Given the description of an element on the screen output the (x, y) to click on. 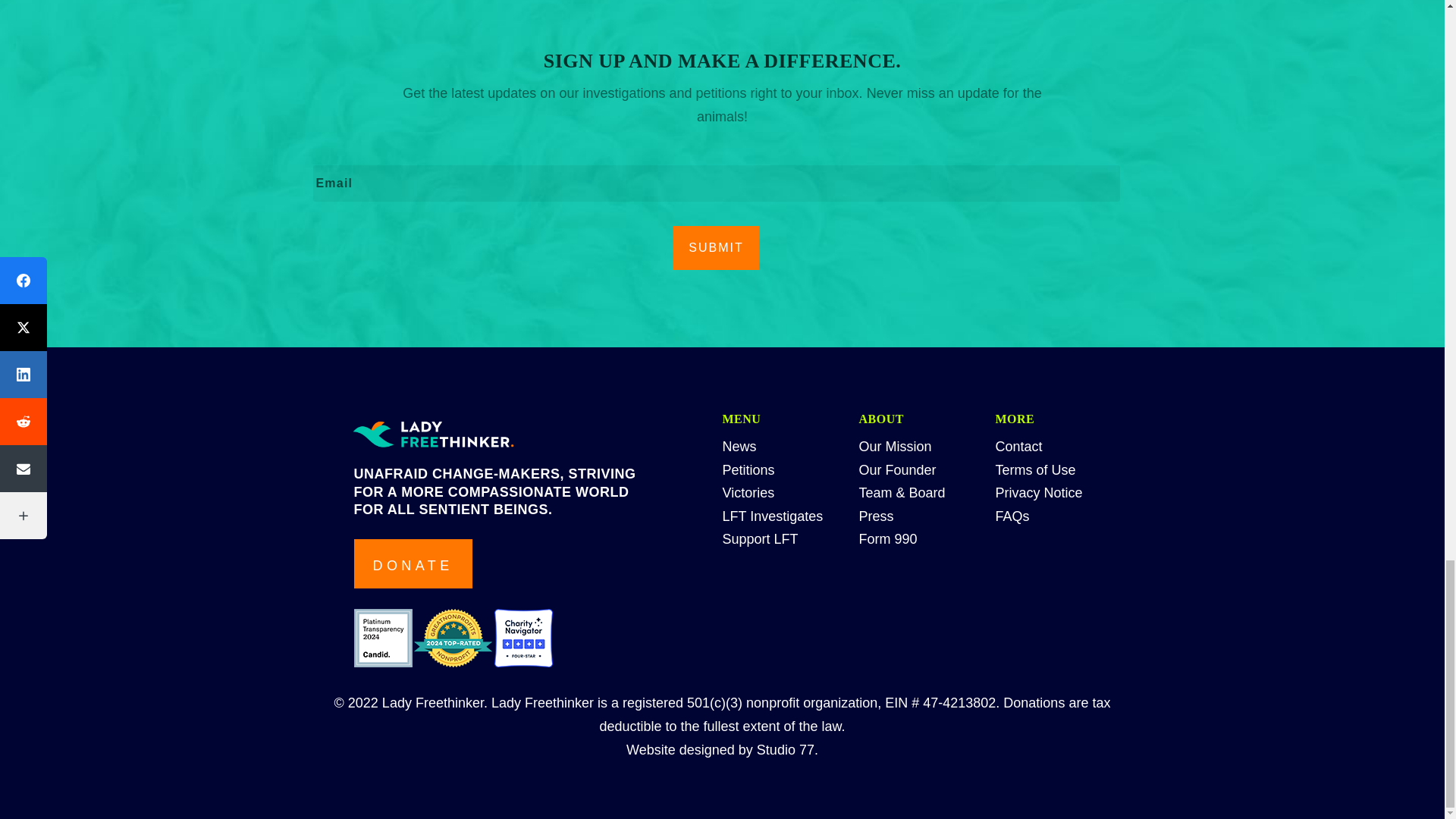
lady-freethinker-main-logo-colour-on-dark-bg 1 (432, 435)
lady-freethinker-certification-logo-2024-2 (452, 638)
Submit (715, 248)
